Given the description of an element on the screen output the (x, y) to click on. 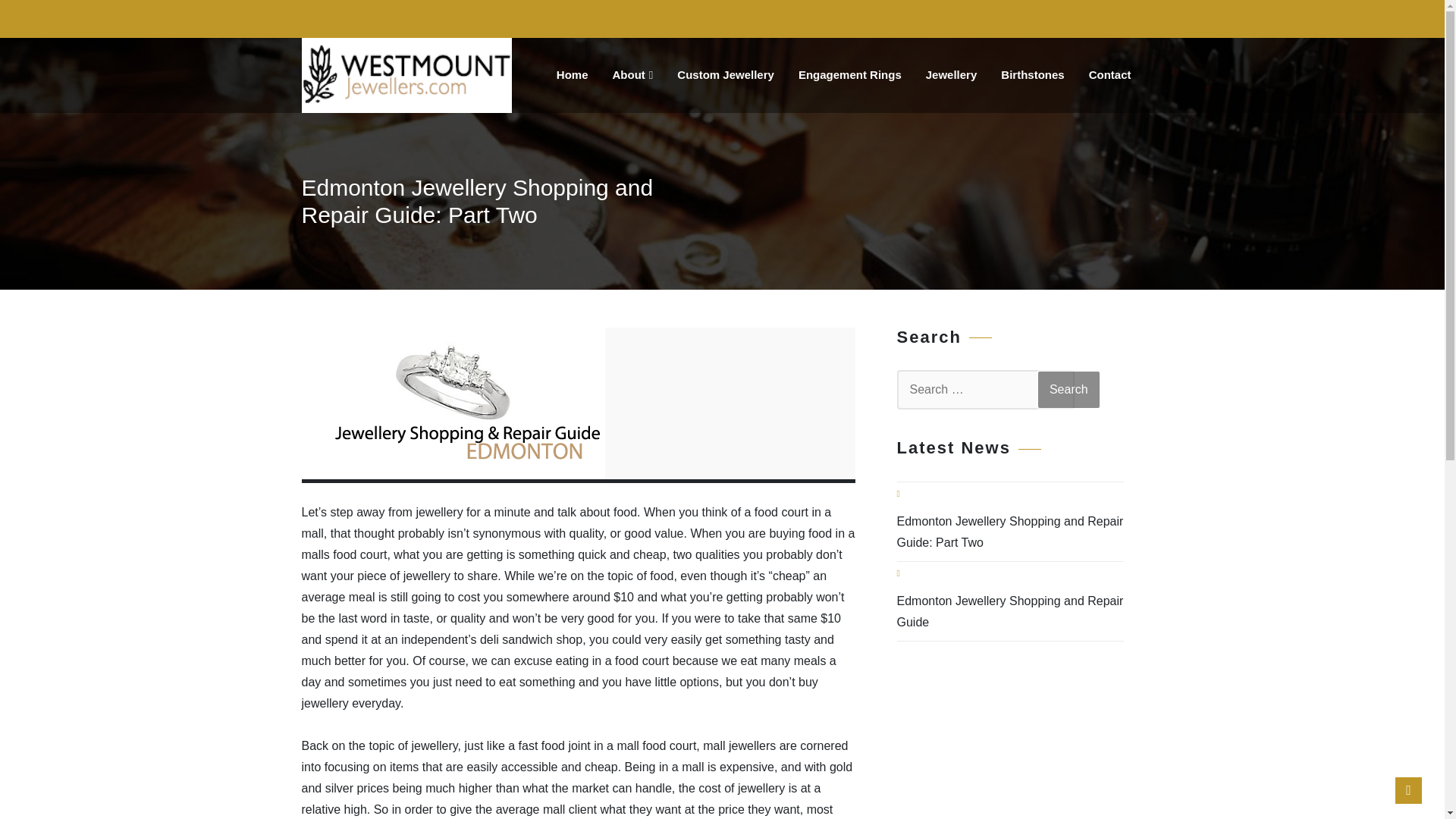
Custom Jewellery (725, 74)
Jewellery (952, 74)
Birthstones (1031, 74)
Contact (1109, 74)
Edmonton Jewellery Shopping and Repair Guide: Part Two (1010, 532)
Back To Top (1408, 790)
Engagement Rings (850, 74)
Search (1068, 389)
Edmonton Jewellery Shopping and Repair Guide (1010, 611)
